Given the description of an element on the screen output the (x, y) to click on. 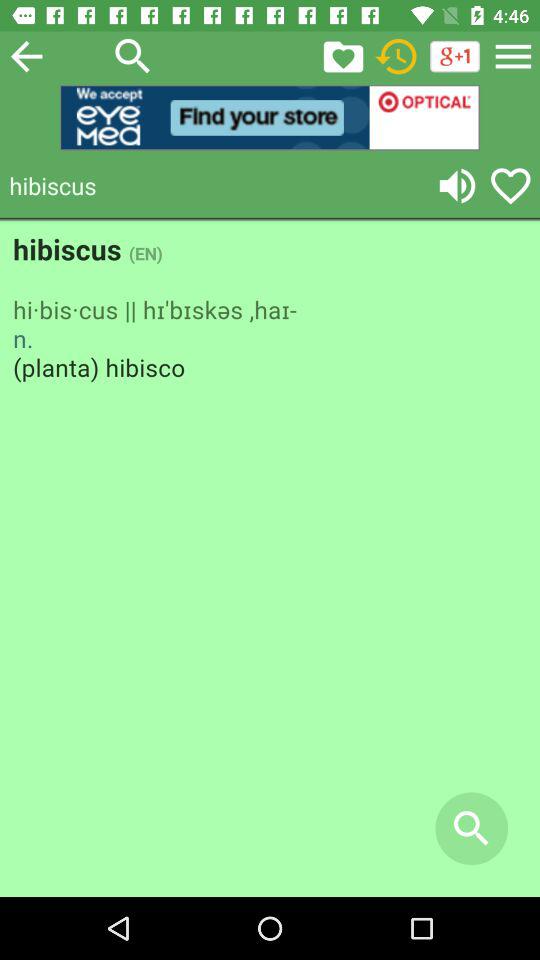
go back (26, 56)
